Given the description of an element on the screen output the (x, y) to click on. 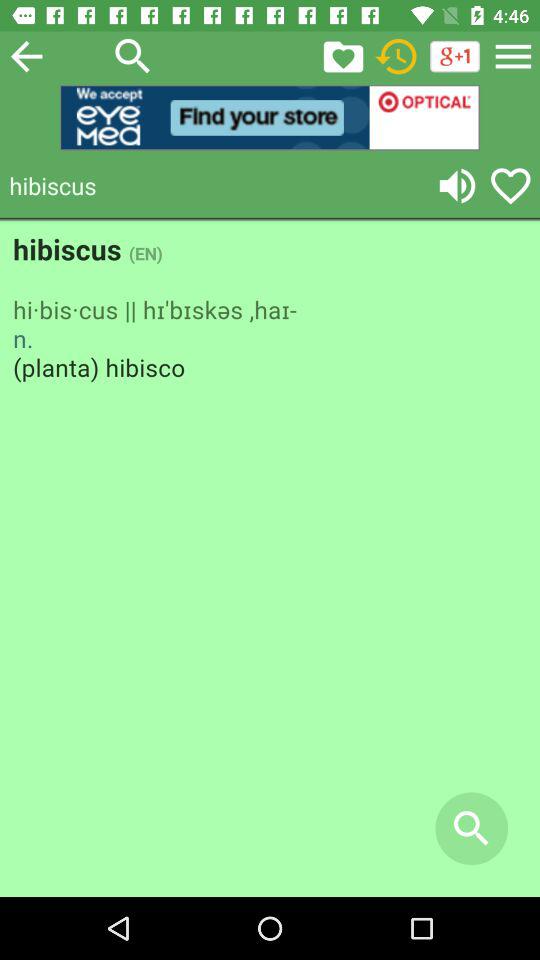
go back (26, 56)
